Given the description of an element on the screen output the (x, y) to click on. 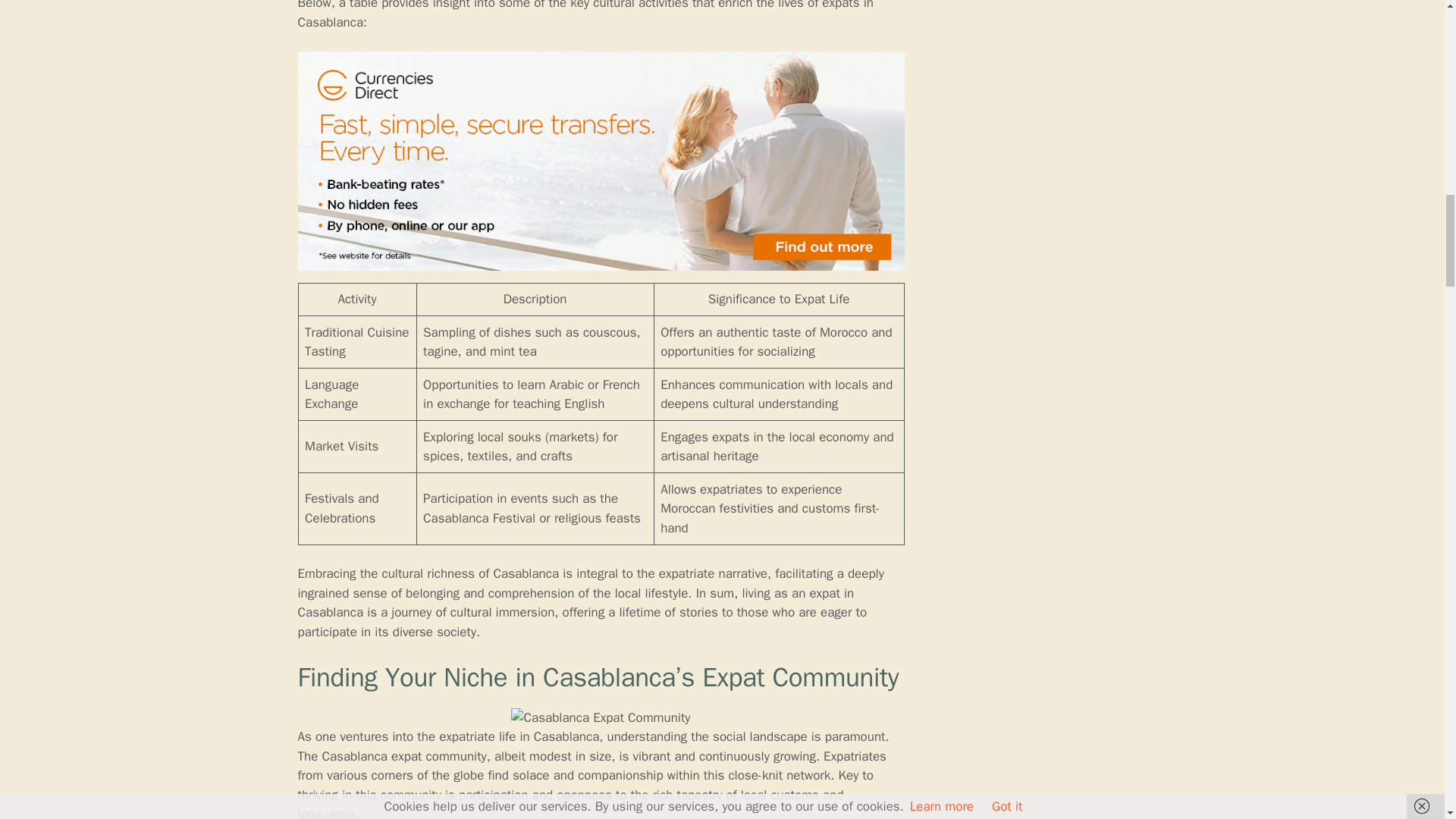
Casablanca Expat Community (600, 718)
